Given the description of an element on the screen output the (x, y) to click on. 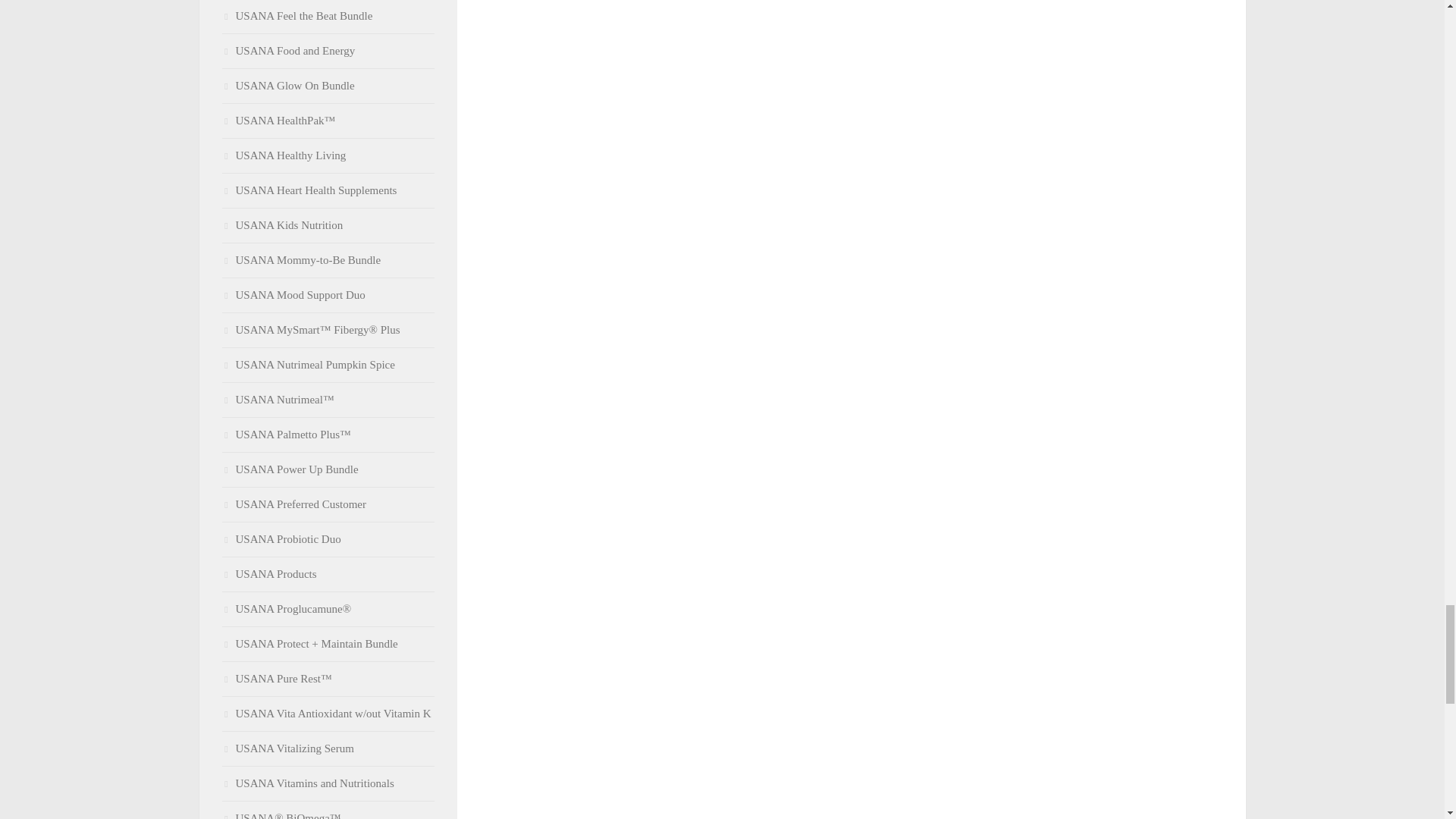
USANA Food and Energy (288, 50)
USANA Healthy Living (283, 155)
